Given the description of an element on the screen output the (x, y) to click on. 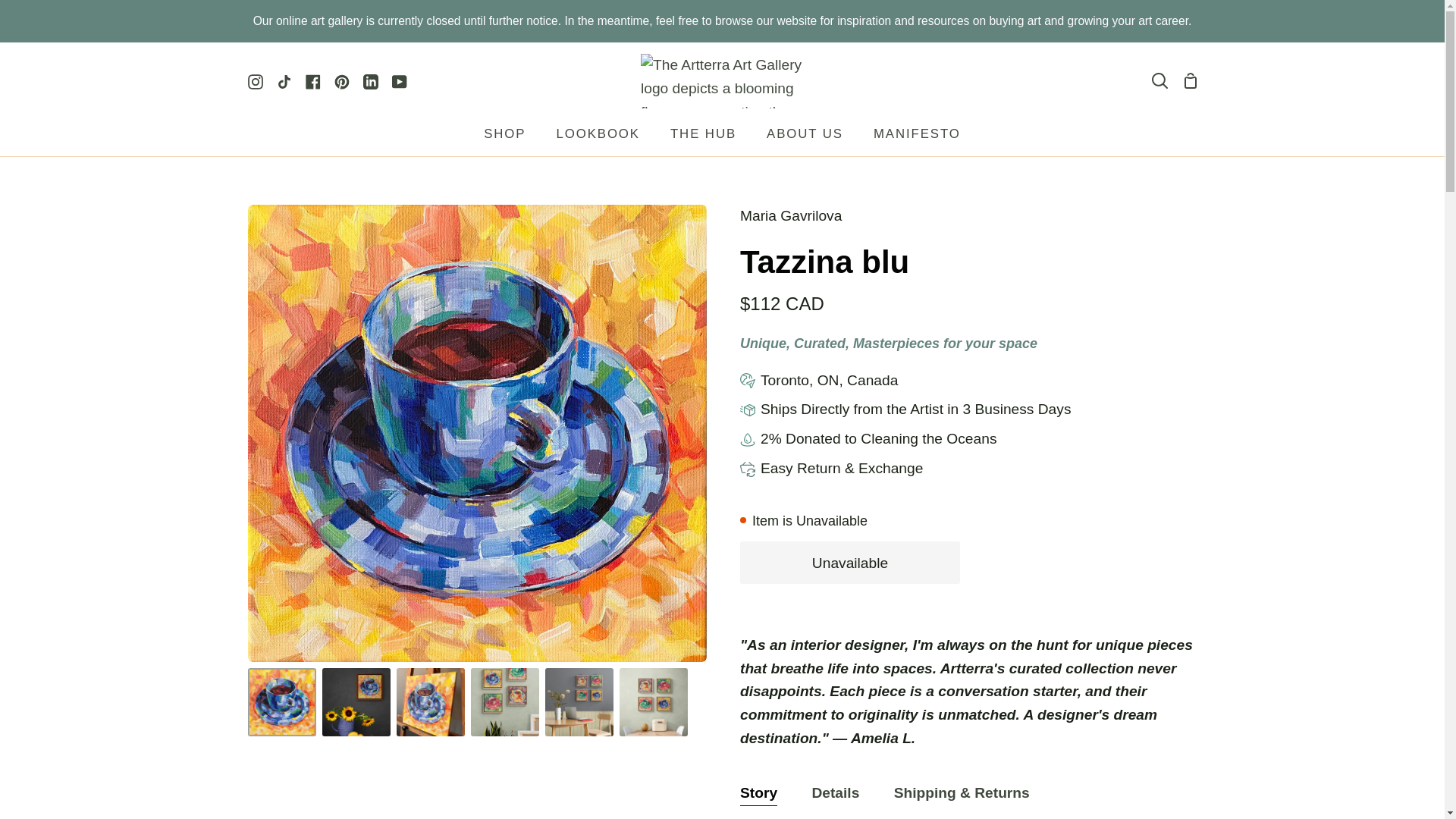
SHOP (504, 137)
MANIFESTO (917, 137)
ABOUT US (805, 137)
THE HUB (703, 137)
LOOKBOOK (596, 137)
